Given the description of an element on the screen output the (x, y) to click on. 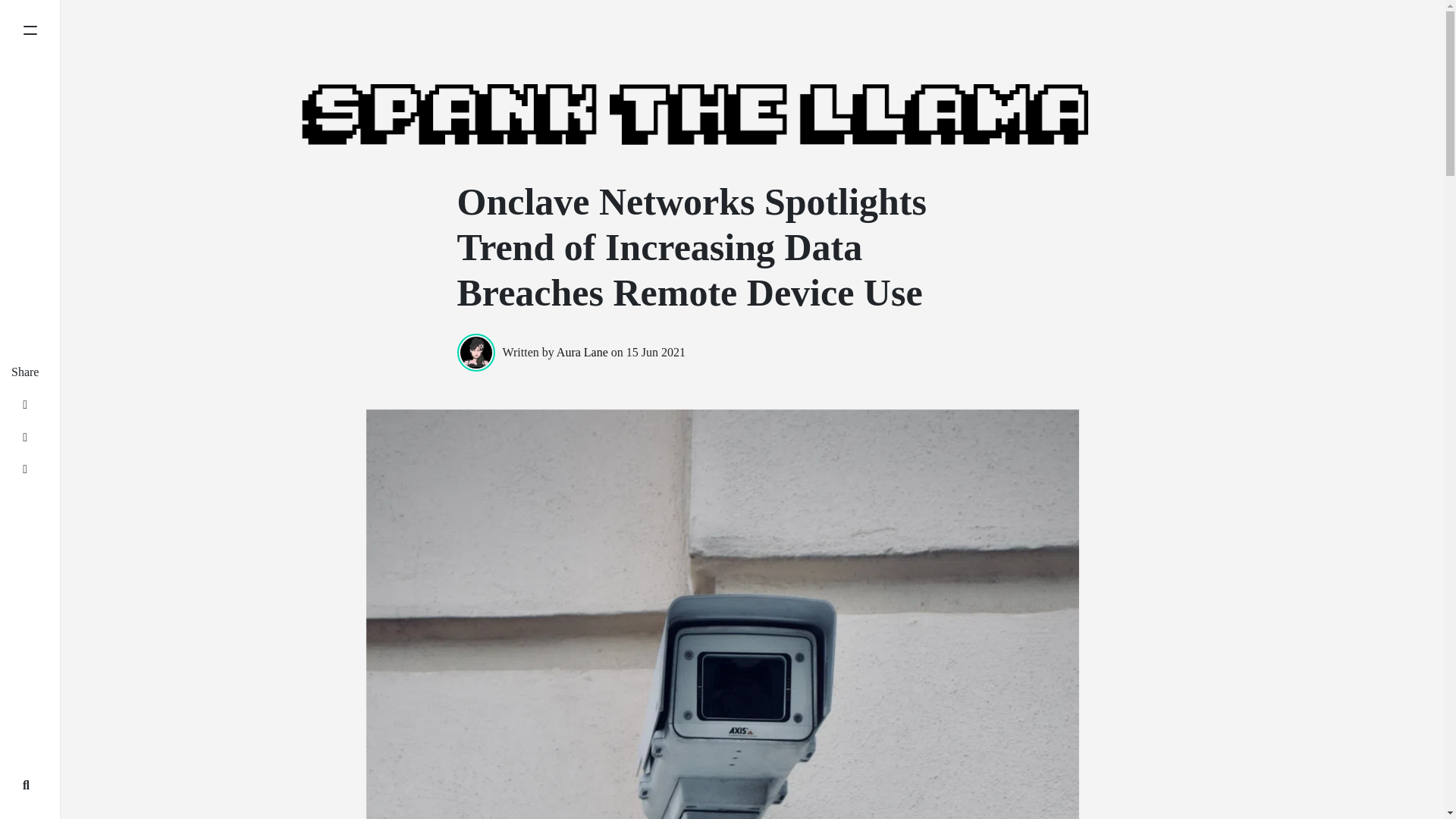
Aura Lane (582, 351)
